Given the description of an element on the screen output the (x, y) to click on. 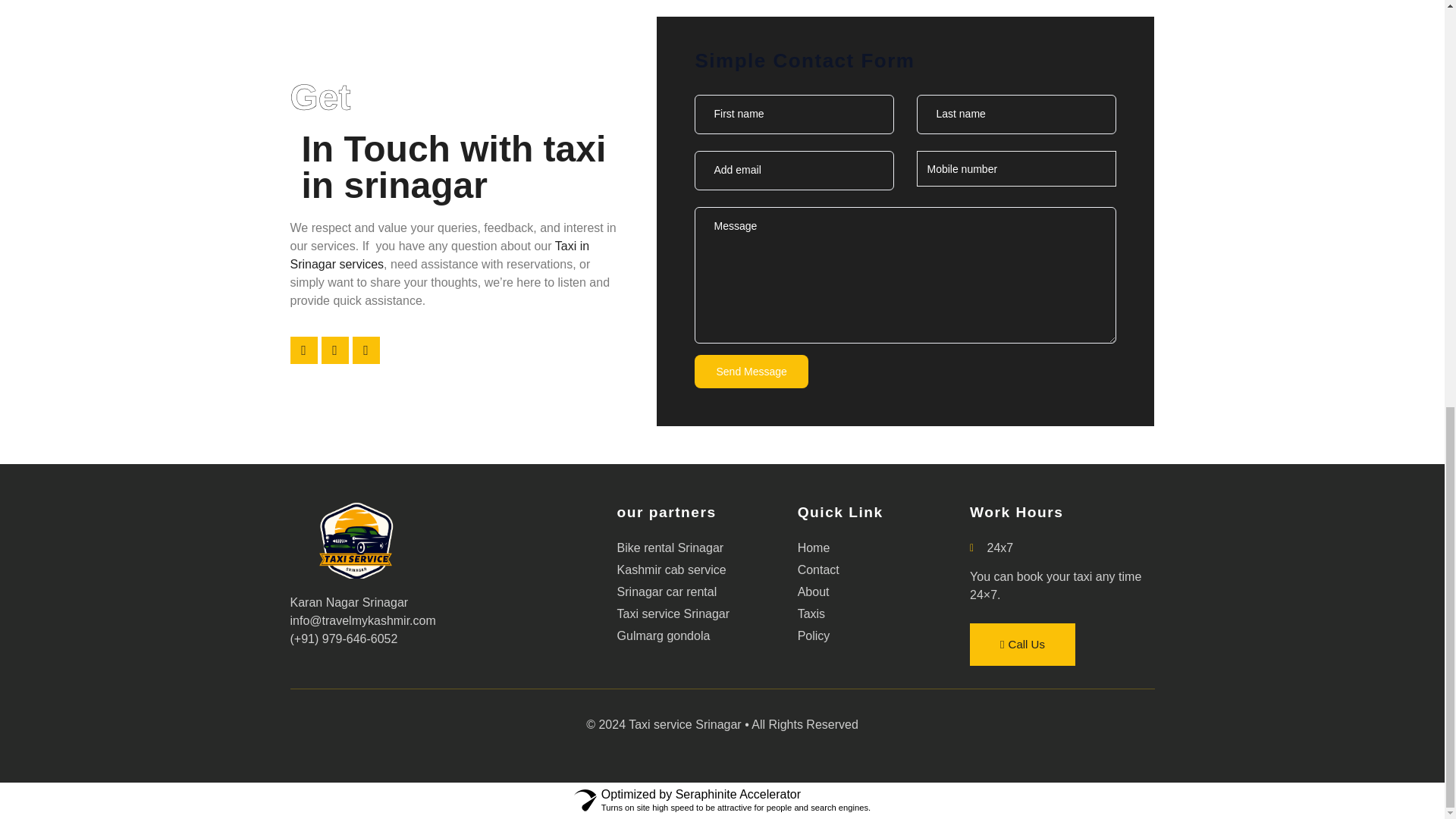
About (883, 592)
Kashmir cab service (707, 570)
Taxi service Srinagar (707, 614)
Taxis (883, 614)
Home (883, 547)
Bike rental Srinagar (707, 547)
Policy (883, 636)
Gulmarg gondola (707, 636)
Contact (883, 570)
Send Message (751, 371)
Taxi in Srinagar services (707, 592)
Call Us (439, 255)
